Given the description of an element on the screen output the (x, y) to click on. 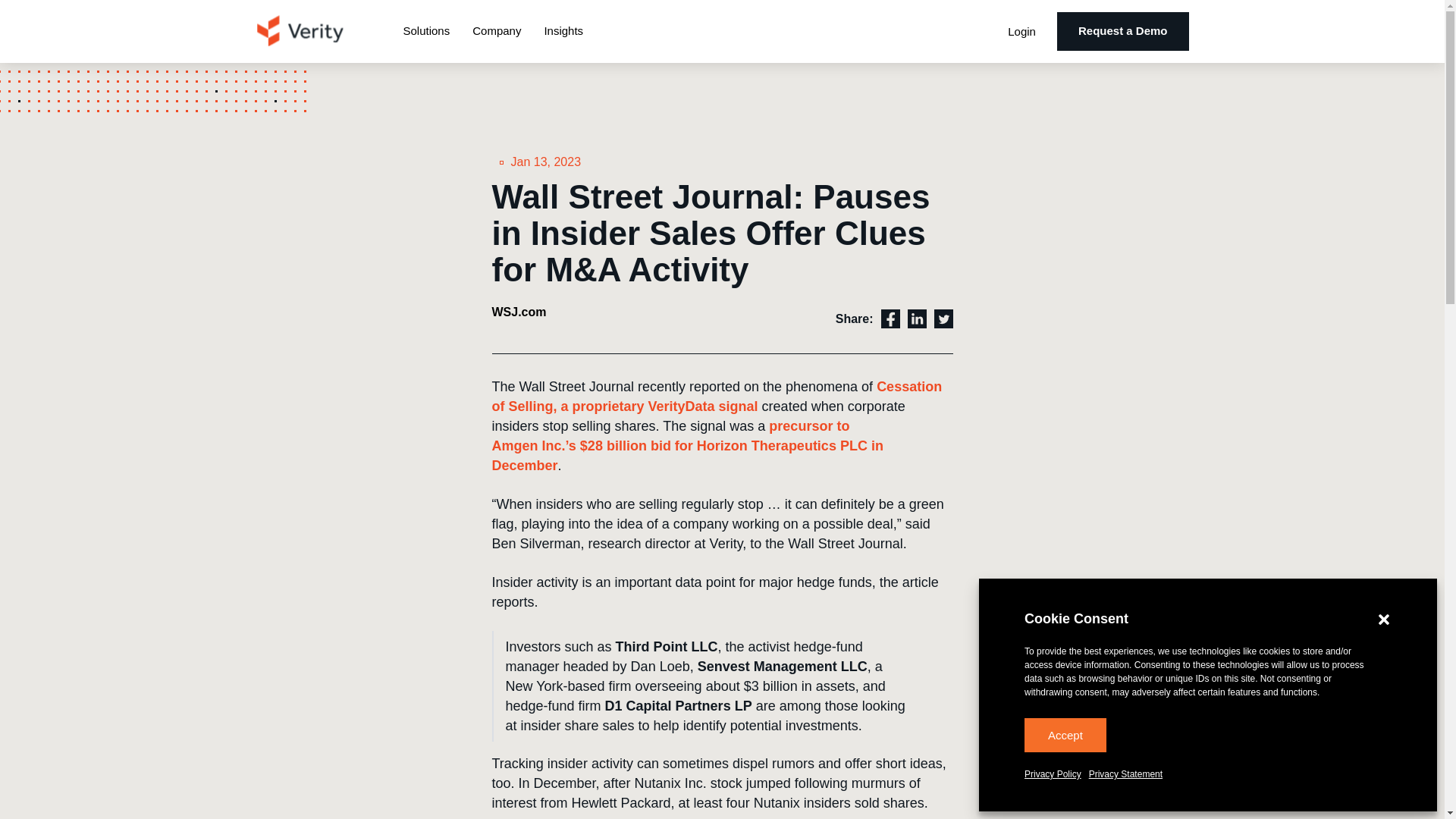
Company (496, 31)
Privacy Policy (1053, 774)
Accept (1065, 735)
Request a Demo (1123, 31)
Privacy Statement (1125, 774)
Login (1022, 31)
Insights (563, 31)
Solutions (426, 31)
